Given the description of an element on the screen output the (x, y) to click on. 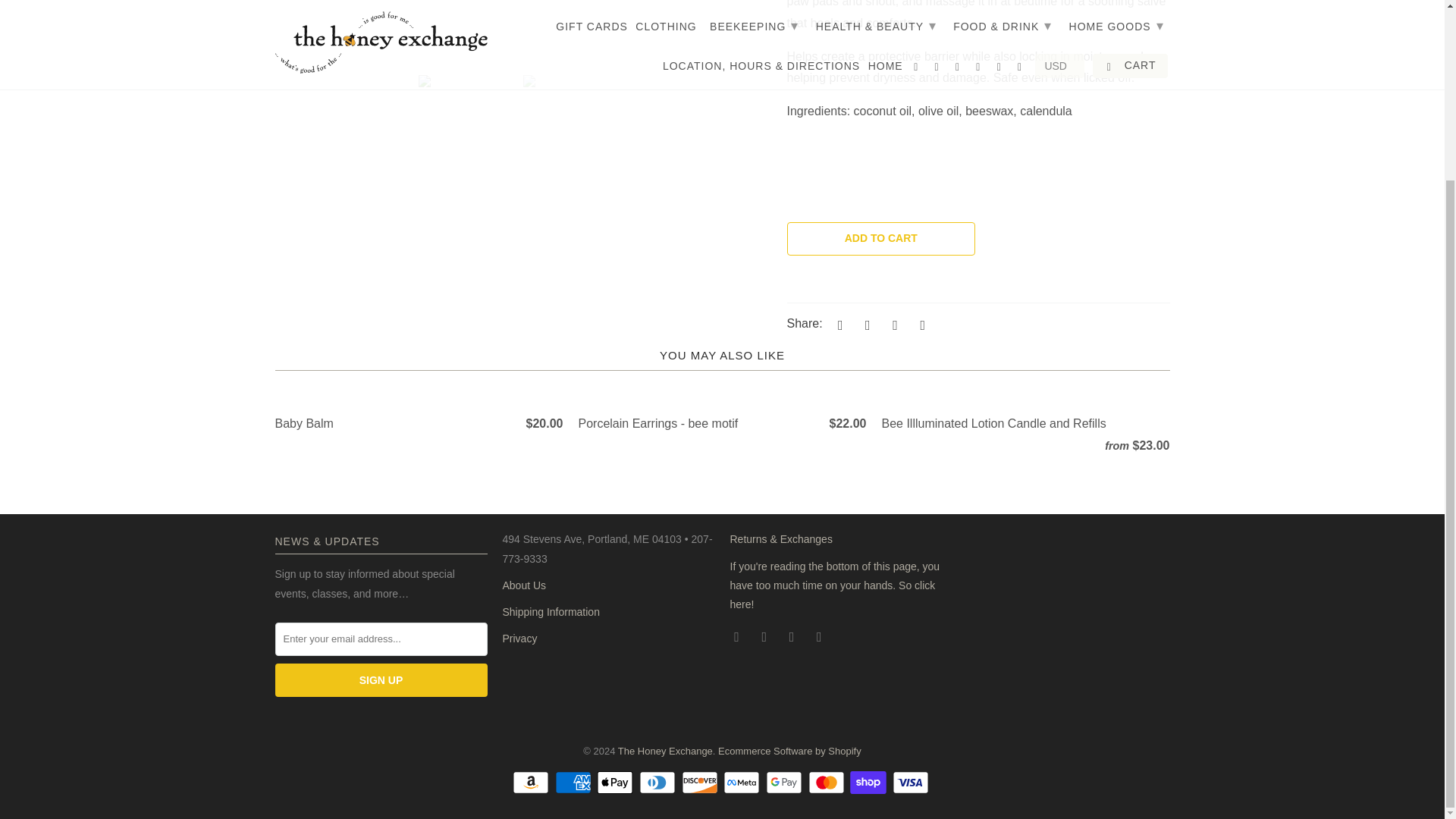
Google Pay (785, 782)
Share this on Facebook (865, 324)
Email this to a friend (920, 324)
Amazon (531, 782)
Shop Pay (869, 782)
American Express (574, 782)
Apple Pay (616, 782)
Share this on Twitter (837, 324)
Visa (911, 782)
Diners Club (658, 782)
